Given the description of an element on the screen output the (x, y) to click on. 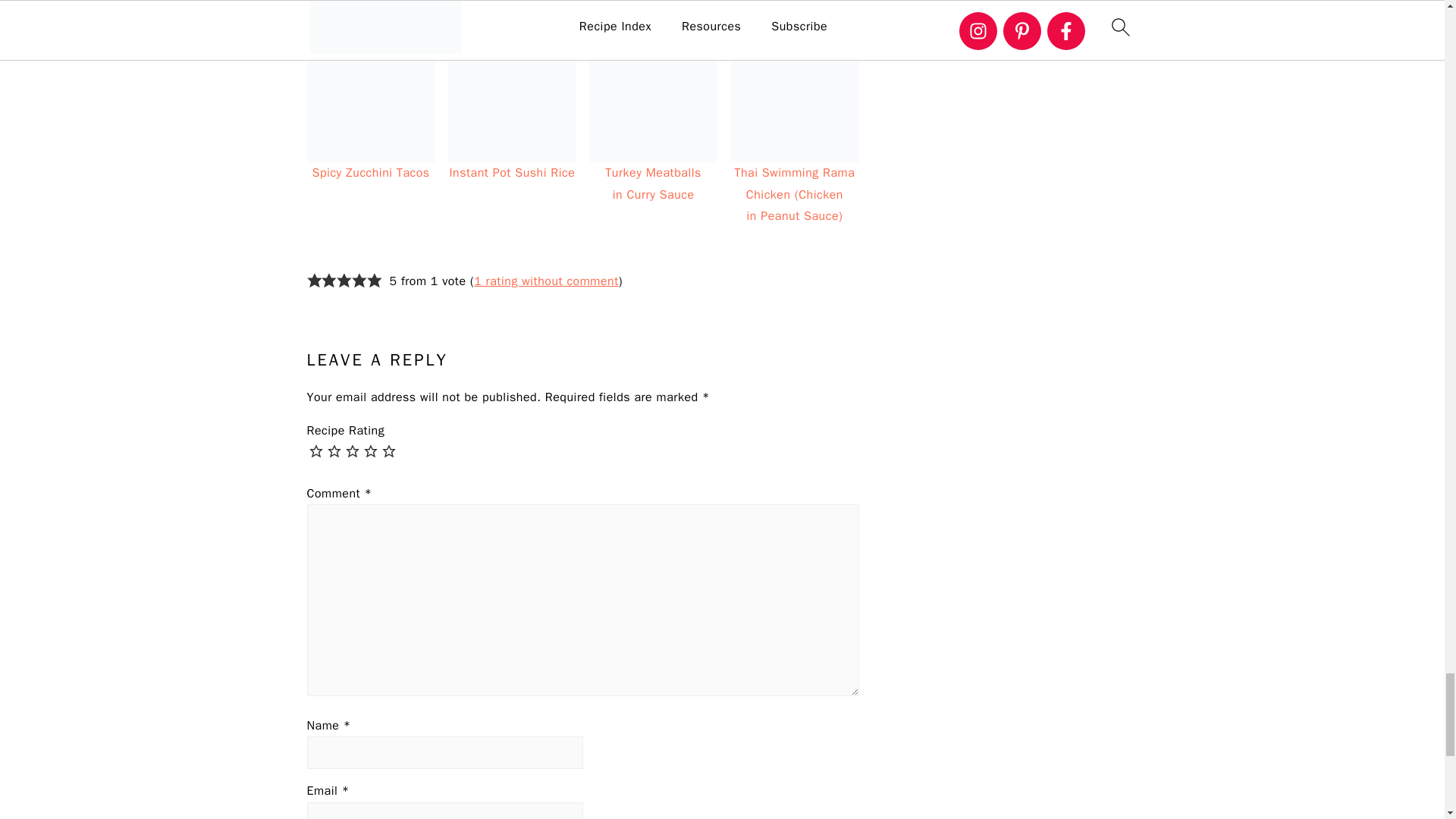
Instant Pot Sushi Rice (512, 98)
Turkey Meatballs in Curry Sauce (653, 98)
Spicy Zucchini Tacos (369, 98)
